Given the description of an element on the screen output the (x, y) to click on. 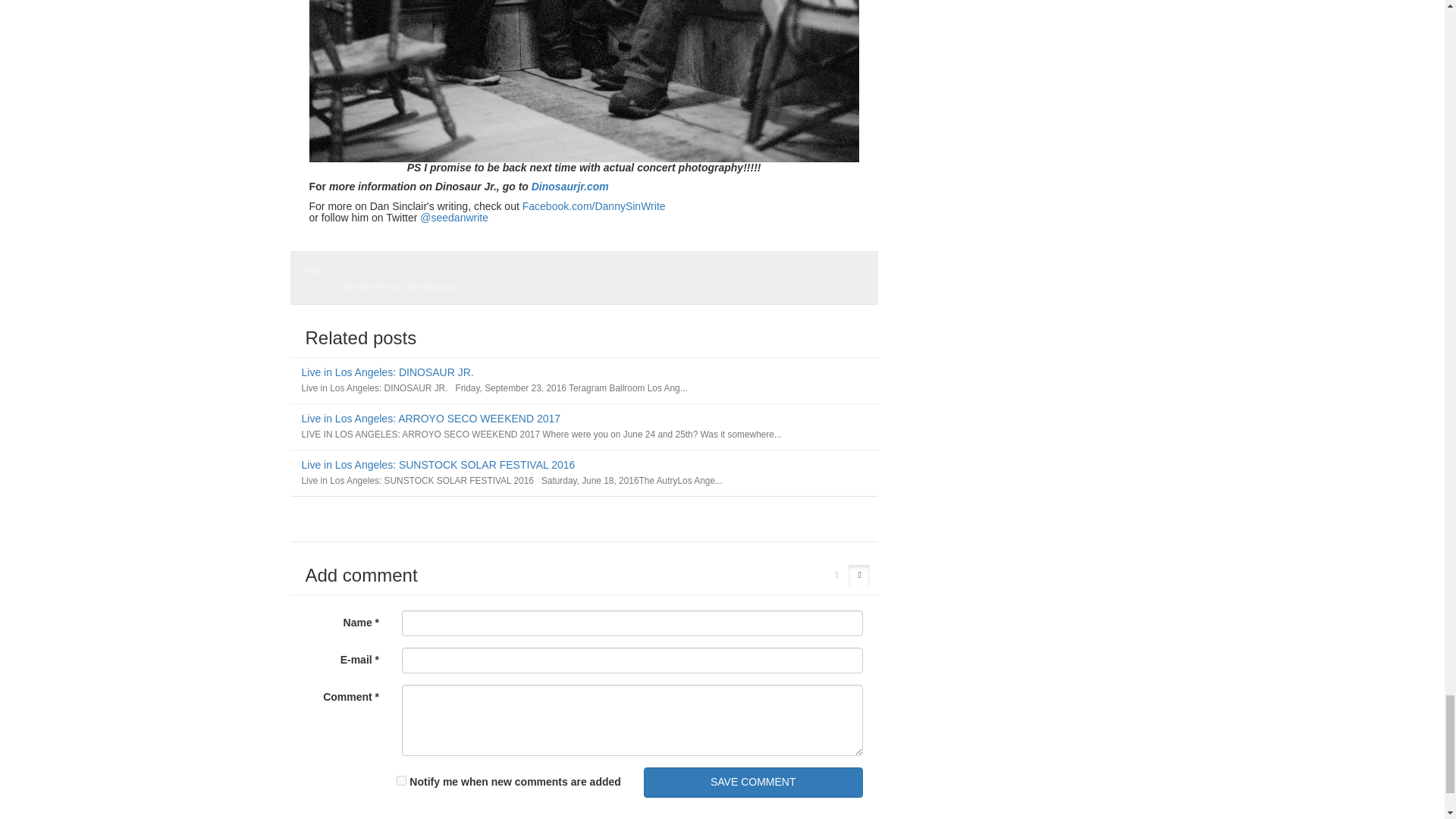
Live in Los Angeles: DINOSAUR JR. (387, 372)
Live in Los Angeles: SUNSTOCK SOLAR FESTIVAL 2016 (438, 464)
5 (320, 293)
Live in Los Angeles: ARROYO SECO WEEKEND 2017 (430, 418)
Rate this 4 stars out of 5 (316, 293)
on (401, 780)
Rate this 5 stars out of 5 (320, 293)
Dinosaurjr.com (569, 186)
4 (316, 293)
Rate this 3 stars out of 5 (312, 293)
Save comment (753, 782)
3 (312, 293)
